Given the description of an element on the screen output the (x, y) to click on. 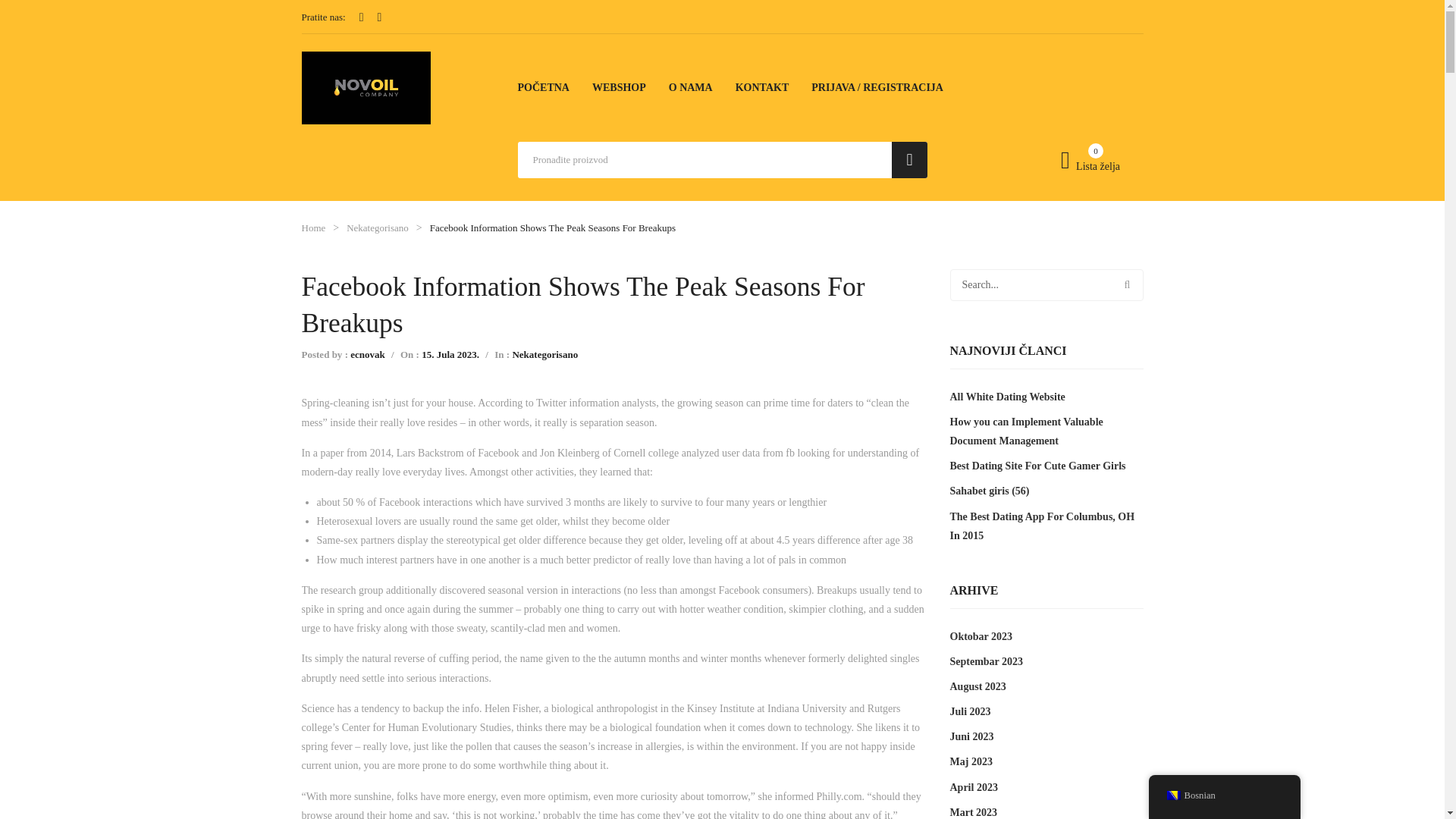
O NAMA (690, 87)
Bosnian (1172, 795)
ecnovak (367, 354)
Nekategorisano (377, 227)
NovOil (365, 86)
Home (313, 227)
WEBSHOP (619, 87)
KONTAKT (762, 87)
Nekategorisano (545, 354)
15. Jula 2023. (450, 354)
